Given the description of an element on the screen output the (x, y) to click on. 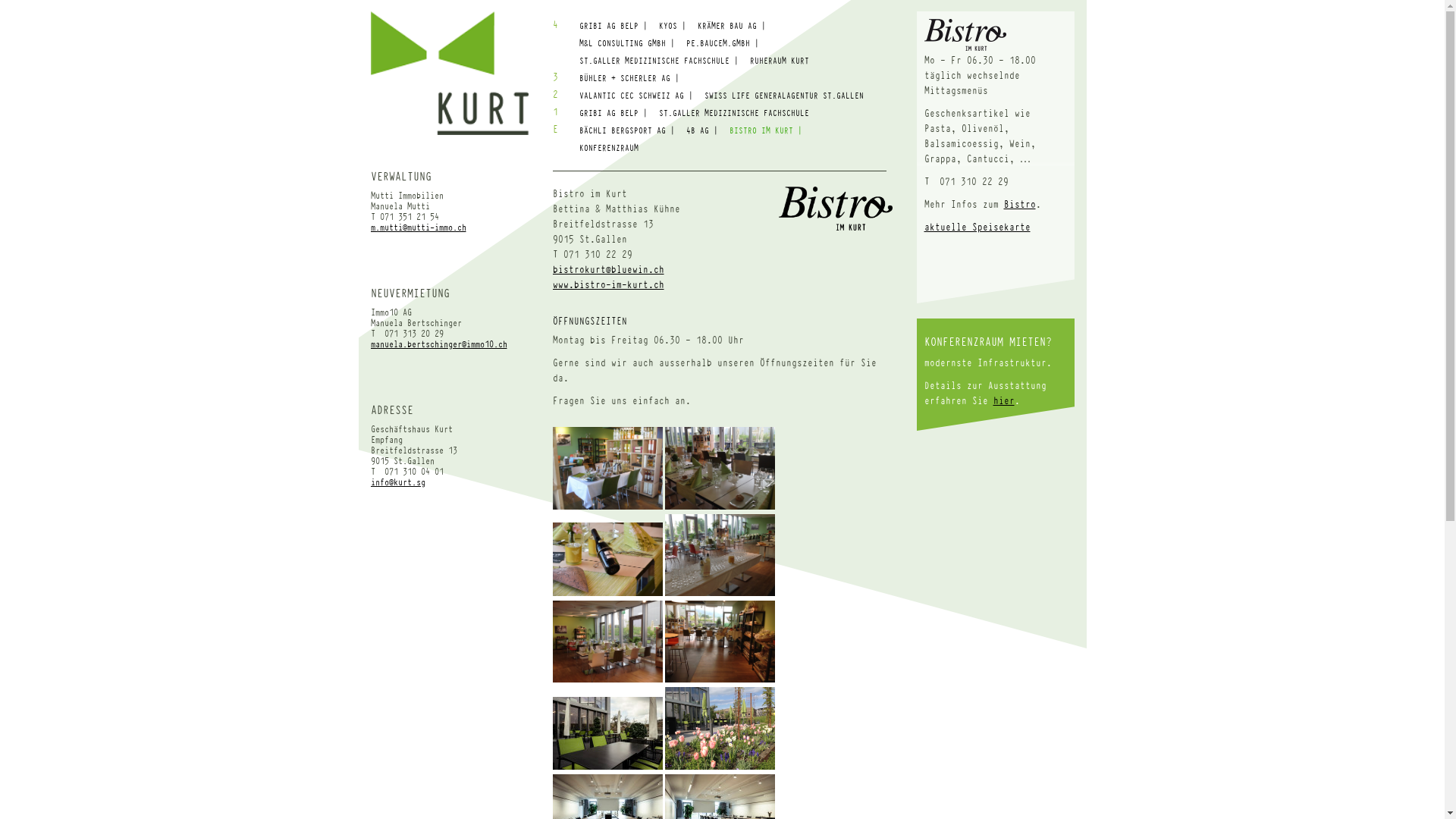
M&L CONSULTING GMBH | Element type: text (626, 43)
ST.GALLER MEDIZINISCHE FACHSCHULE | Element type: text (658, 60)
aktuelle Speisekarte Element type: text (976, 226)
KYOS | Element type: text (671, 25)
PE.BAUCEM.GMBH | Element type: text (721, 43)
hier Element type: text (1003, 400)
4B AG | Element type: text (701, 130)
ST.GALLER MEDIZINISCHE FACHSCHULE Element type: text (733, 113)
VALANTIC CEC SCHWEIZ AG | Element type: text (636, 95)
GRIBI AG BELP | Element type: text (613, 113)
Bistro Element type: text (1019, 203)
www.bistro-im-kurt.ch Element type: text (607, 284)
manuela.bertschinger@immo10.ch Element type: text (438, 344)
KONFERENZRAUM Element type: text (608, 147)
info@kurt.sg Element type: text (397, 482)
RUHERAUM KURT Element type: text (778, 60)
BISTRO IM KURT | Element type: text (765, 130)
bistrokurt@bluewin.ch Element type: text (607, 269)
GRIBI AG BELP | Element type: text (613, 25)
SWISS LIFE GENERALAGENTUR ST.GALLEN Element type: text (782, 95)
m.mutti@mutti-immo.ch Element type: text (417, 227)
